Given the description of an element on the screen output the (x, y) to click on. 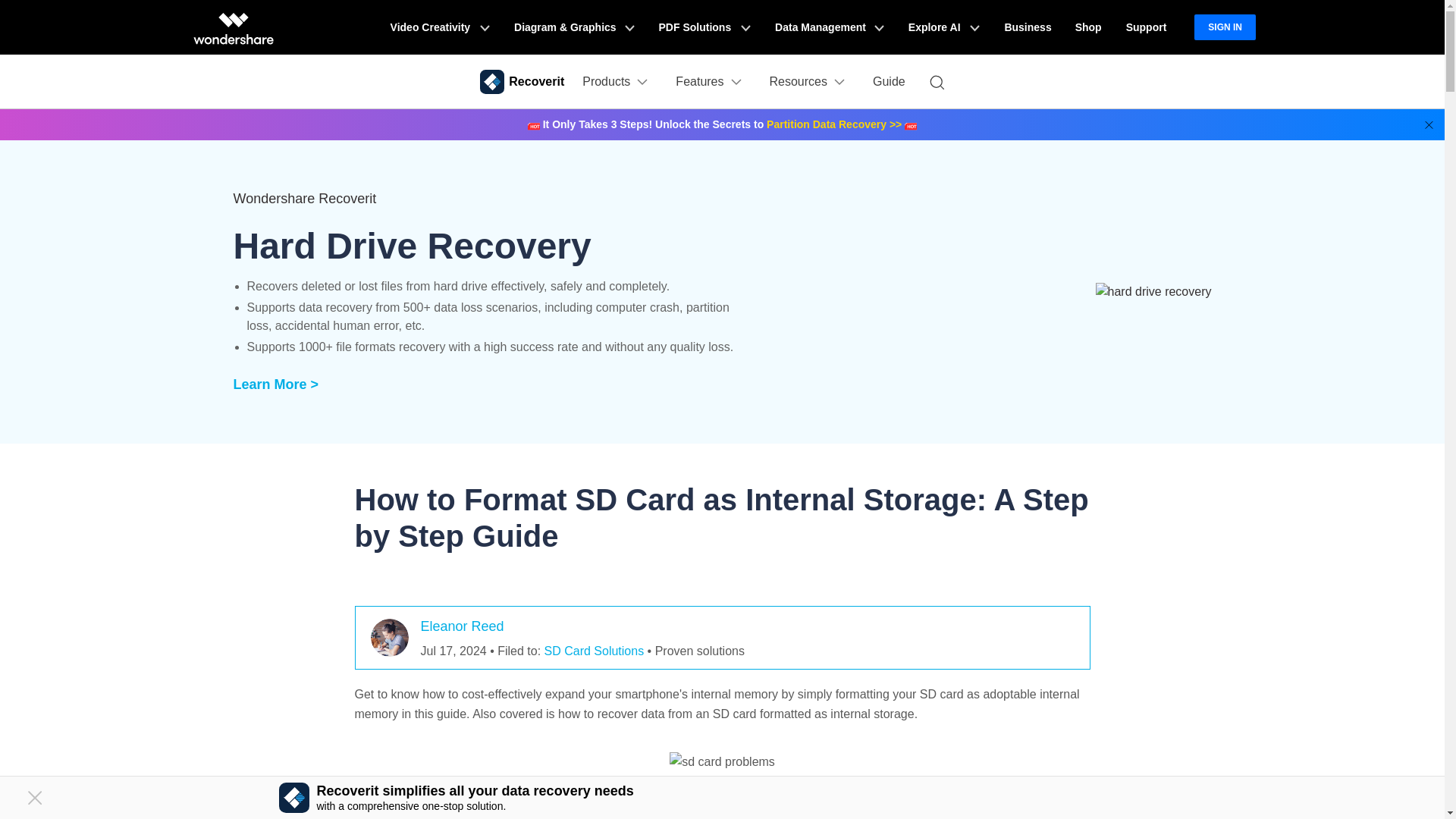
Video Creativity (439, 27)
Data Management (829, 27)
Explore AI (943, 27)
PDF Solutions (704, 27)
